Given the description of an element on the screen output the (x, y) to click on. 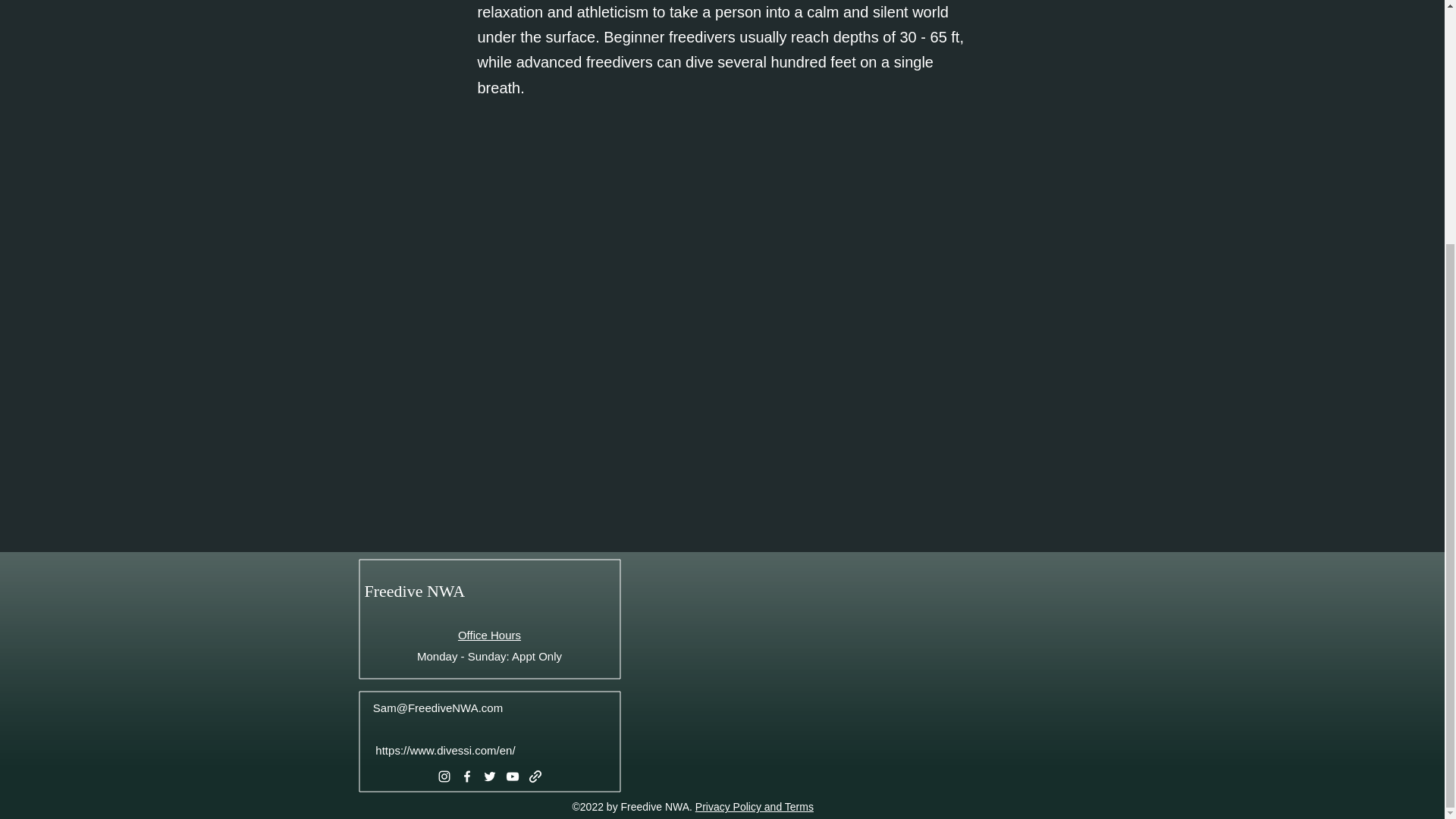
Freedive NWA (414, 590)
www.divessi.com (452, 749)
Privacy Policy and Terms (754, 806)
